Given the description of an element on the screen output the (x, y) to click on. 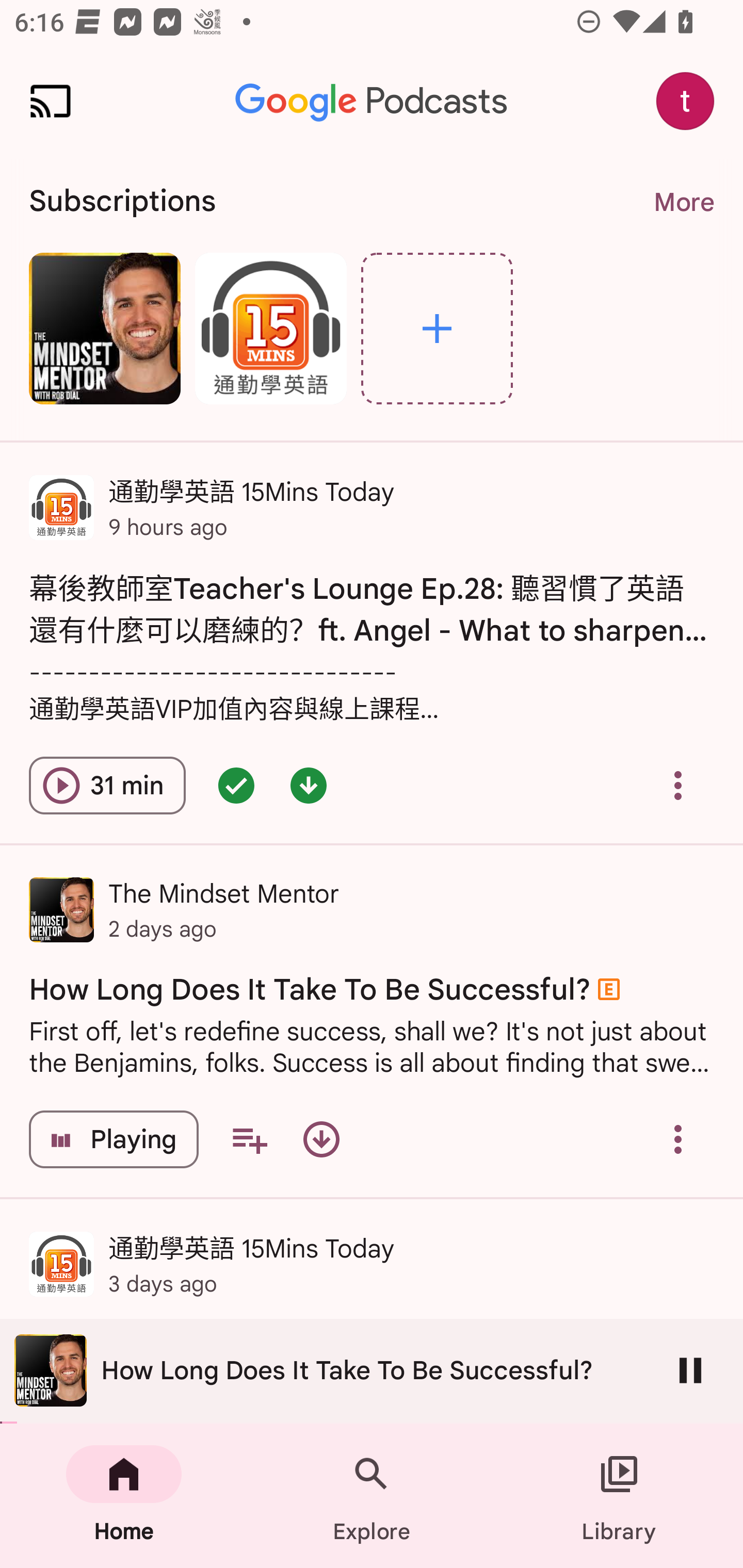
Cast. Disconnected (50, 101)
More More. Navigate to subscriptions page. (683, 202)
The Mindset Mentor (104, 328)
通勤學英語 15Mins Today (270, 328)
Explore (436, 328)
Episode queued - double tap for options (235, 785)
Episode downloaded - double tap for options (308, 785)
Overflow menu (677, 785)
Add to your queue (249, 1139)
Download episode (321, 1139)
Overflow menu (677, 1139)
Pause (690, 1370)
Explore (371, 1495)
Library (619, 1495)
